Given the description of an element on the screen output the (x, y) to click on. 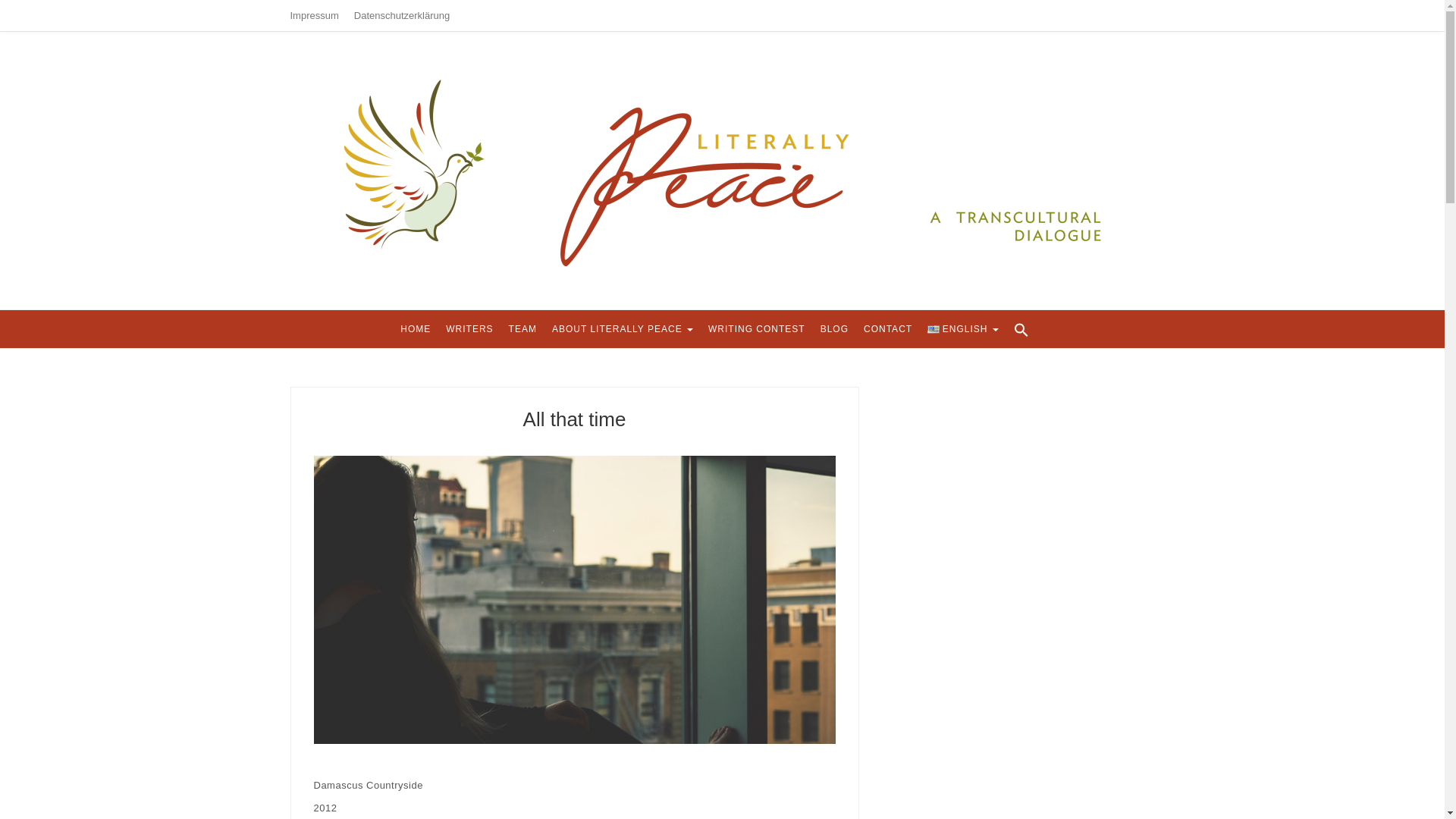
CONTACT (887, 329)
ENGLISH (962, 329)
Impressum (313, 15)
WRITERS (469, 329)
CONTACT (887, 329)
ABOUT LITERALLY PEACE (622, 329)
Writing Contest (756, 329)
WRITING CONTEST (756, 329)
Impressum (313, 15)
WRITERS (469, 329)
